Given the description of an element on the screen output the (x, y) to click on. 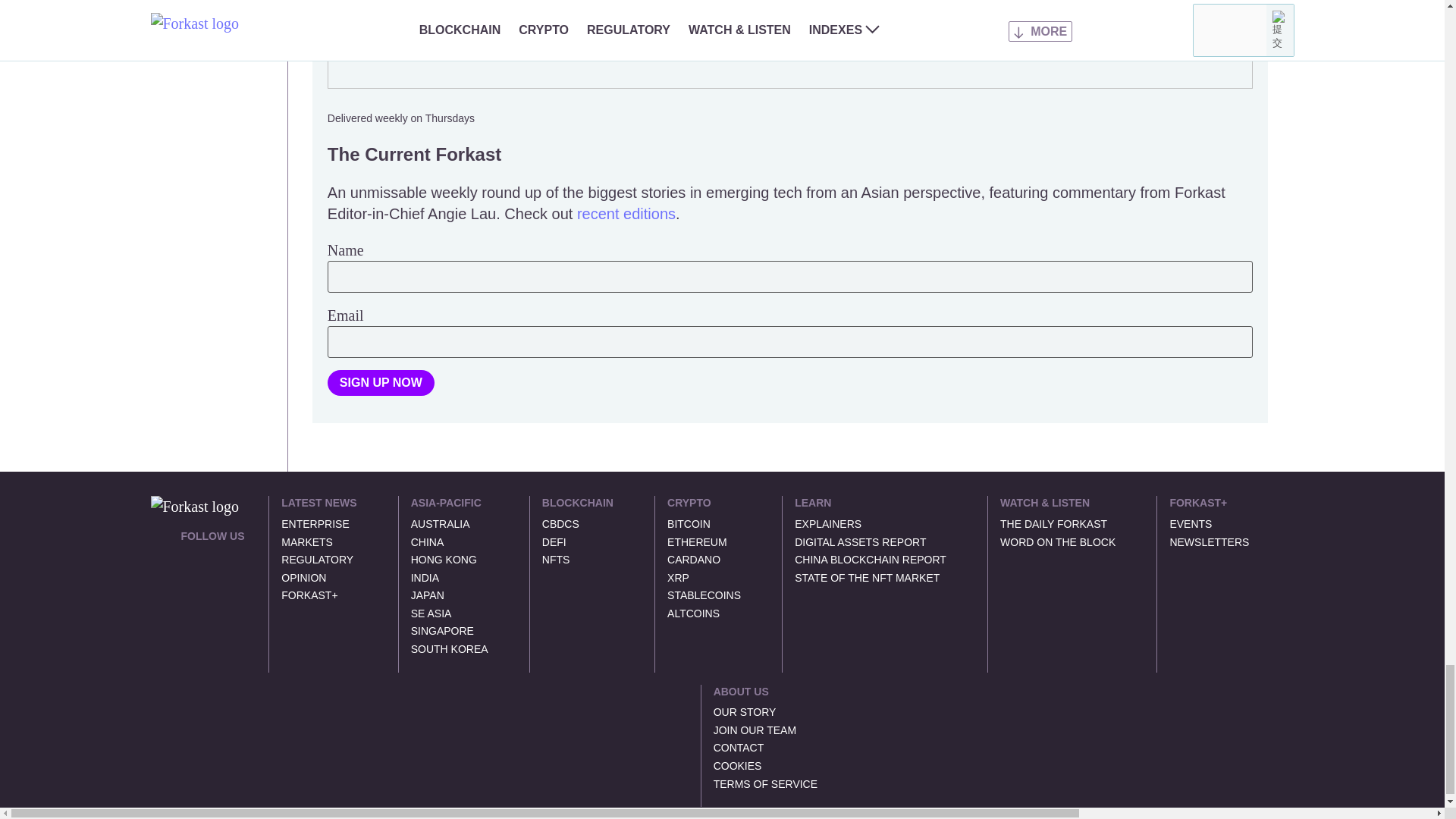
Forkast's profile on LinkedIn (204, 556)
Sign up now (380, 382)
Forkast's profile on Twitter (186, 556)
Forkast's profile on Instagram (186, 587)
Forkast's profile on Facebook (222, 556)
